Given the description of an element on the screen output the (x, y) to click on. 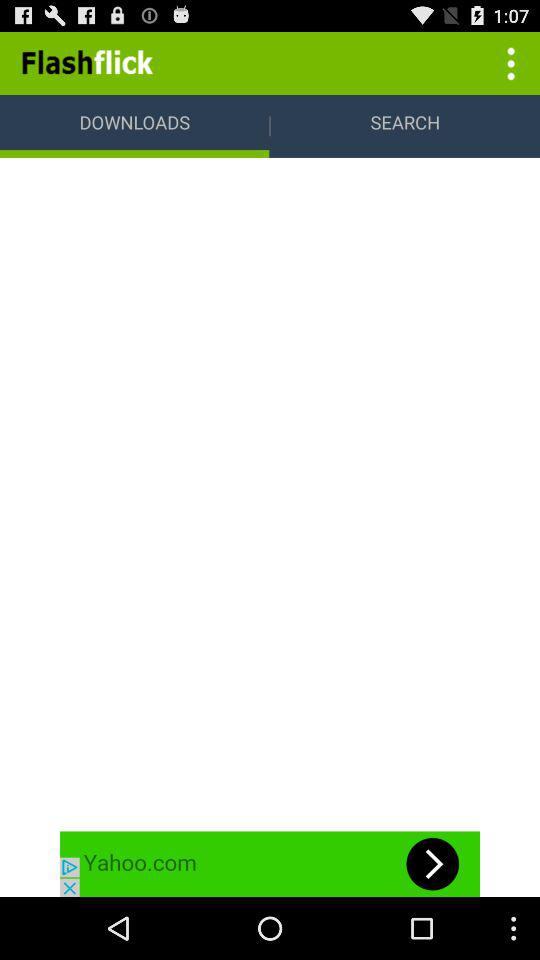
go to the advertisement page (270, 864)
